Given the description of an element on the screen output the (x, y) to click on. 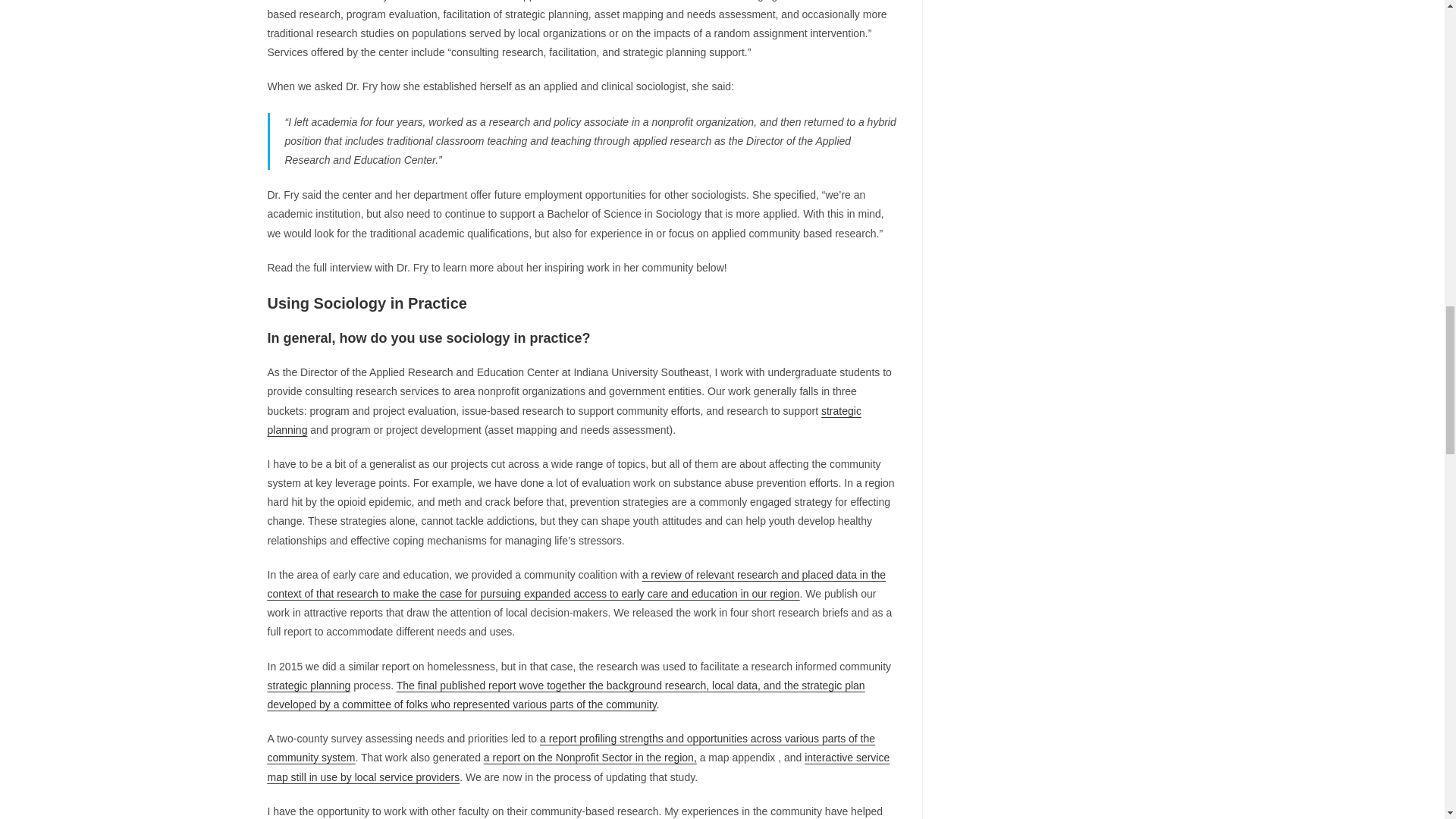
strategic planning (308, 685)
strategic planning (563, 419)
a report on the Nonprofit Sector in the region, (590, 757)
